Given the description of an element on the screen output the (x, y) to click on. 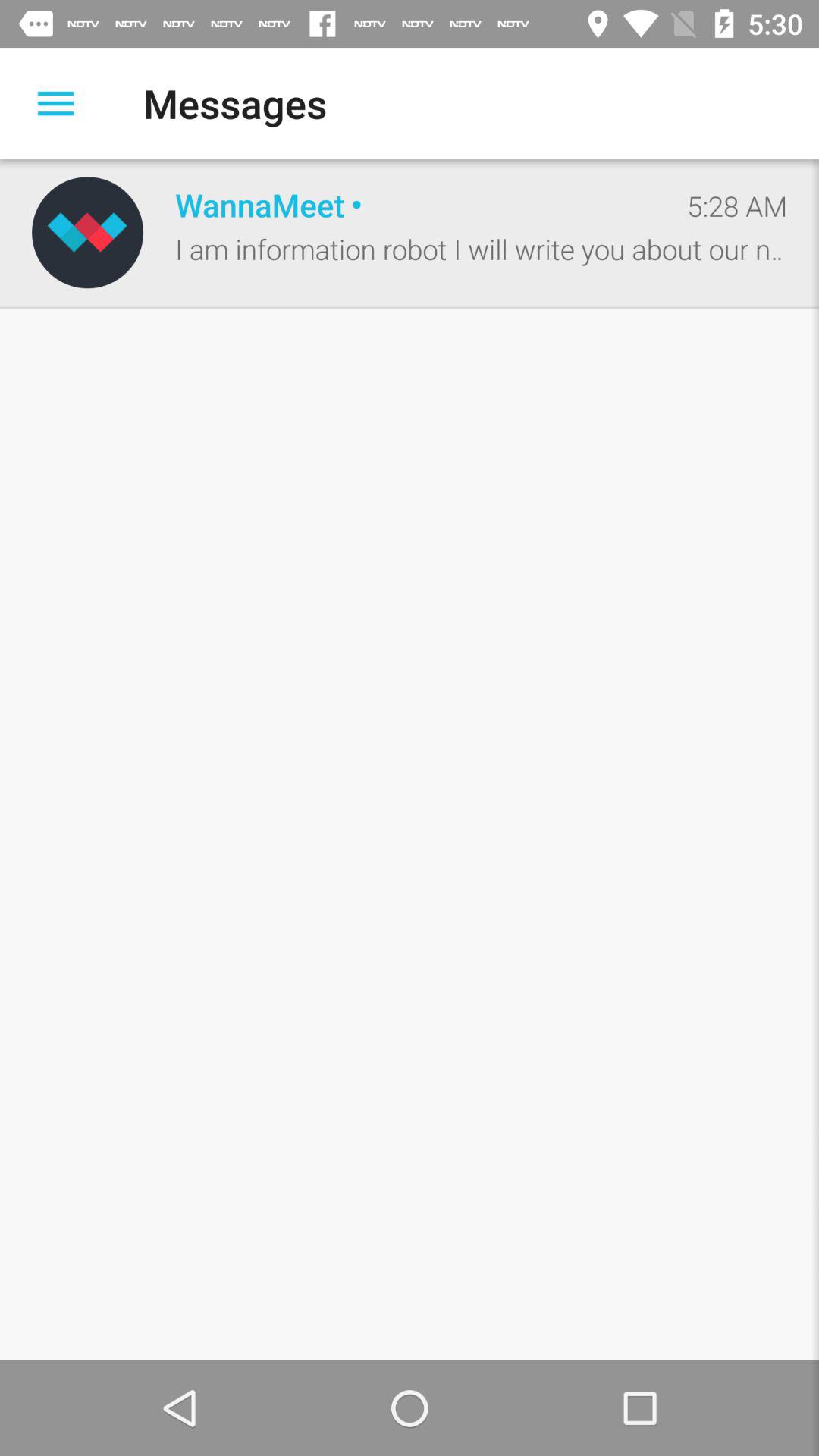
launch the icon next to the 5:28 am icon (415, 204)
